Given the description of an element on the screen output the (x, y) to click on. 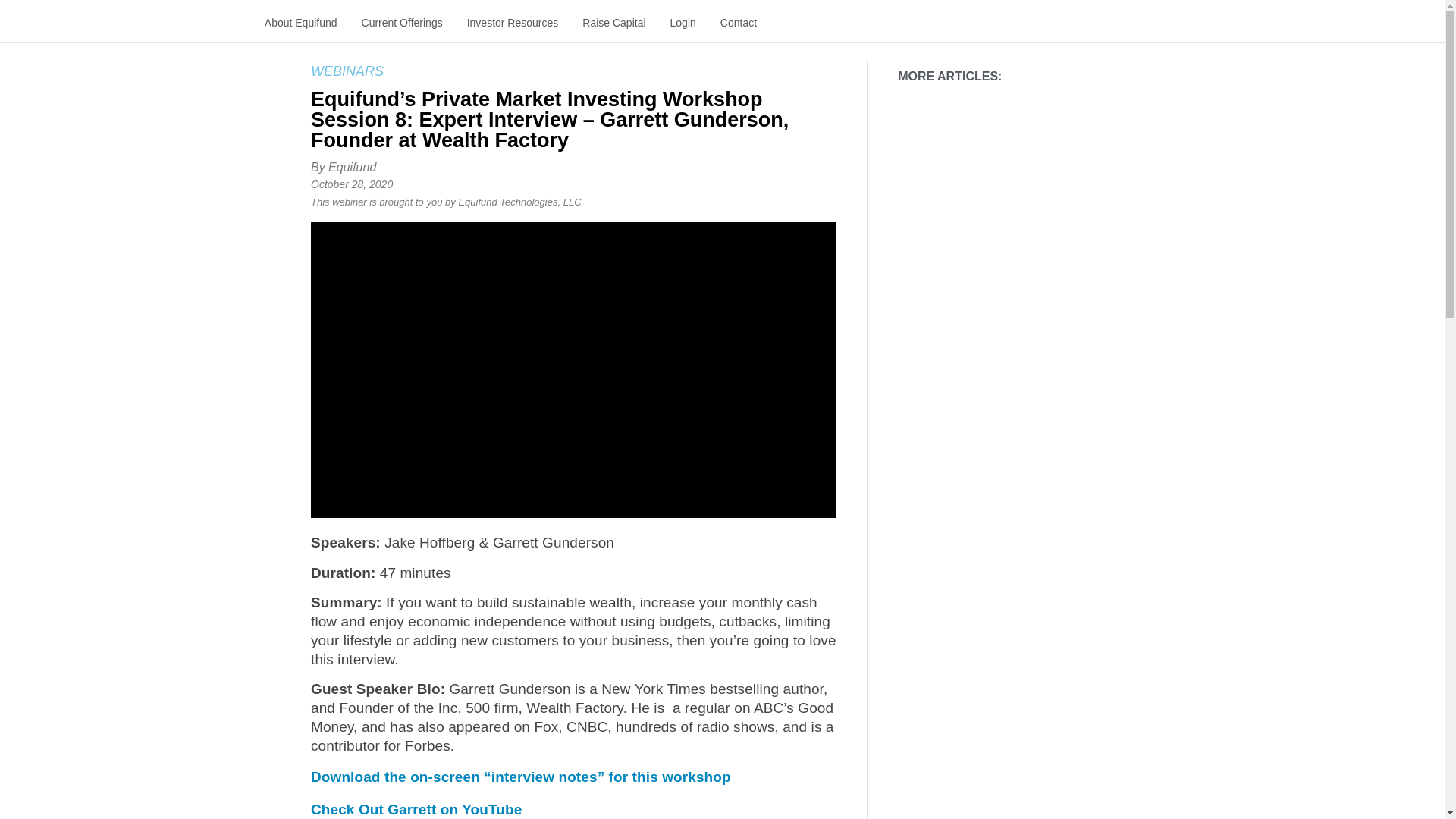
About Equifund (300, 23)
Contact (738, 23)
Login (682, 23)
Raise Capital (614, 23)
Current Offerings (401, 23)
Investor Resources (513, 23)
